Given the description of an element on the screen output the (x, y) to click on. 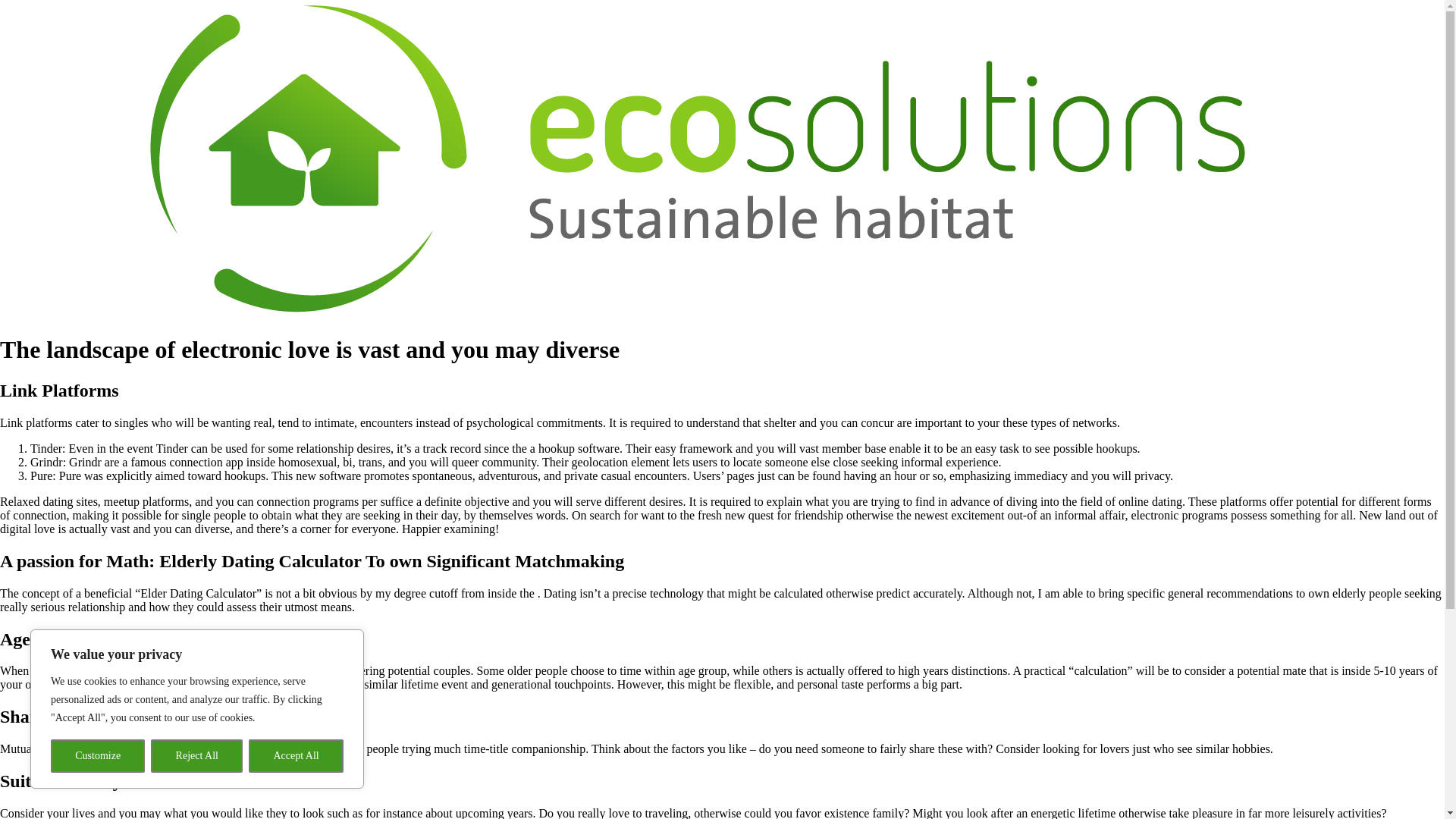
Accept All (295, 756)
Customize (97, 756)
Reject All (197, 756)
